Given the description of an element on the screen output the (x, y) to click on. 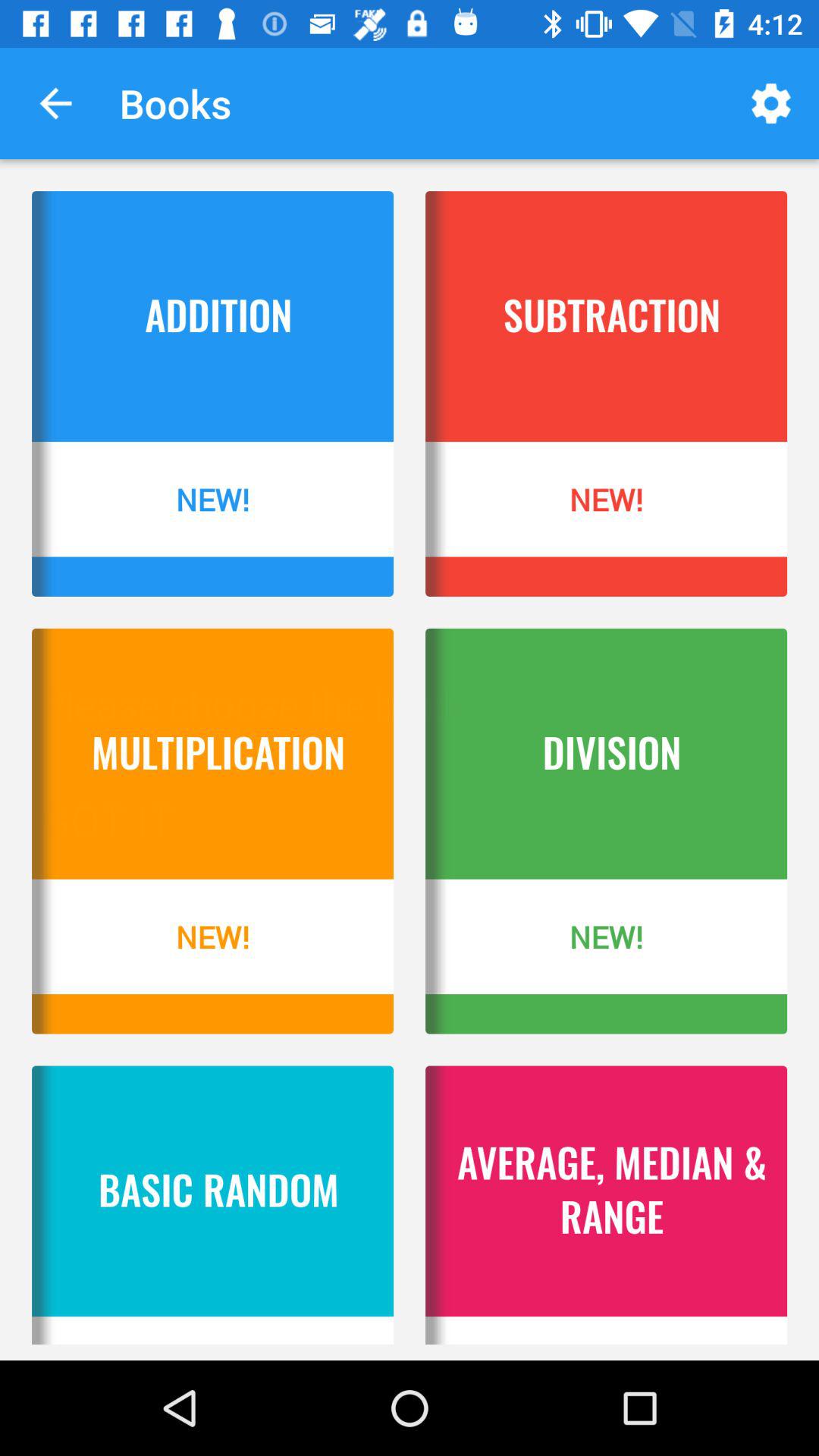
open icon next to books item (771, 103)
